Given the description of an element on the screen output the (x, y) to click on. 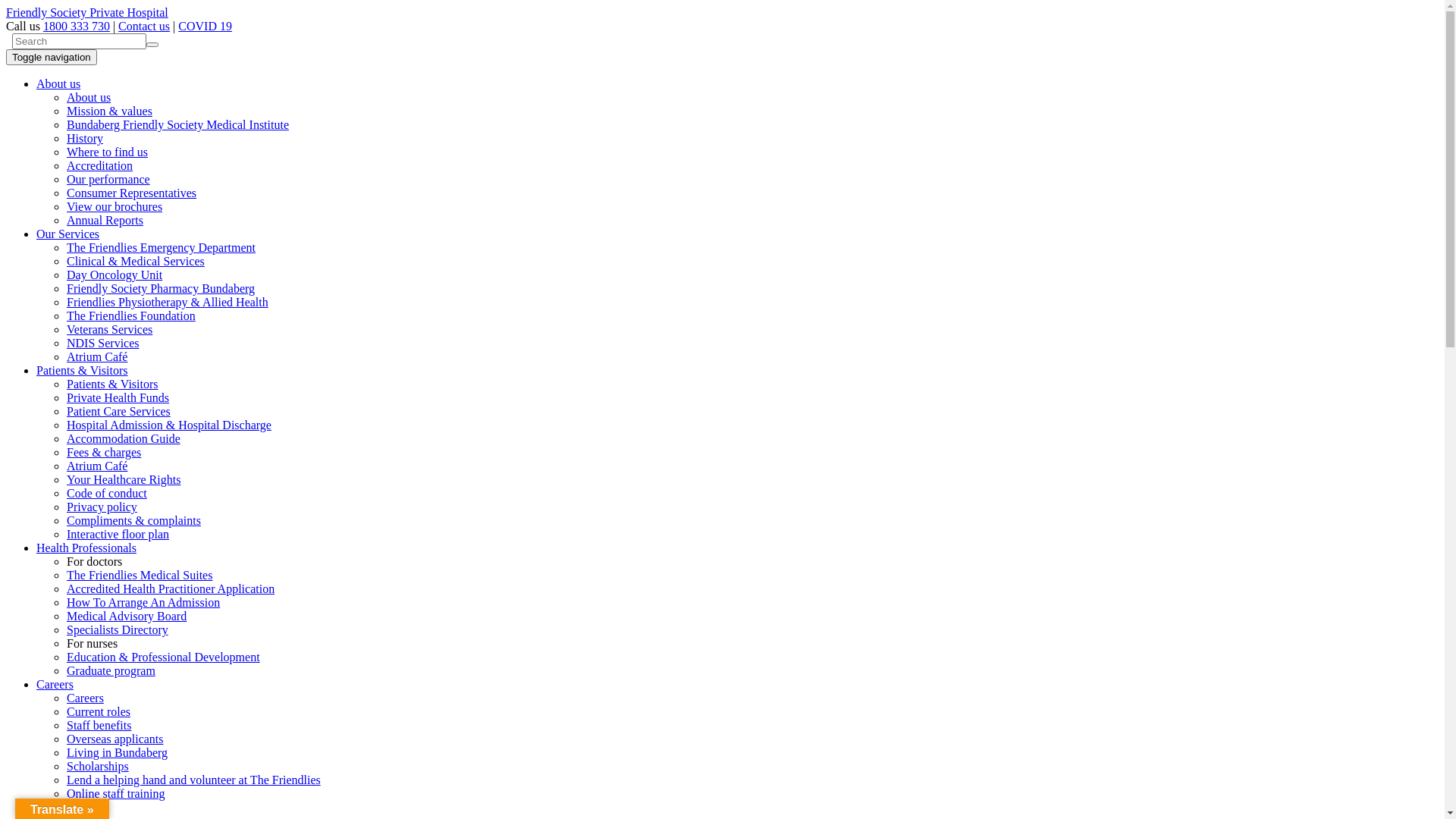
Day Oncology Unit Element type: text (114, 274)
COVID 19 Element type: text (205, 25)
Education & Professional Development Element type: text (163, 656)
About us Element type: text (88, 97)
Living in Bundaberg Element type: text (116, 752)
Veterans Services Element type: text (109, 329)
Health Professionals Element type: text (86, 547)
Friendly Society Pharmacy Bundaberg Element type: text (160, 288)
Friendly Society Private Hospital Element type: text (87, 12)
View our brochures Element type: text (114, 206)
Graduate program Element type: text (110, 670)
The Friendlies Emergency Department Element type: text (160, 247)
Careers Element type: text (54, 683)
Fees & charges Element type: text (103, 451)
Hospital Admission & Hospital Discharge Element type: text (168, 424)
Our performance Element type: text (108, 178)
Compliments & complaints Element type: text (133, 520)
Our Services Element type: text (67, 233)
Toggle navigation Element type: text (51, 57)
Scholarships Element type: text (97, 765)
Bundaberg Friendly Society Medical Institute Element type: text (177, 124)
1800 333 730 Element type: text (76, 25)
The Friendlies Medical Suites Element type: text (139, 574)
Interactive floor plan Element type: text (117, 533)
Careers Element type: text (84, 697)
Clinical & Medical Services Element type: text (135, 260)
Consumer Representatives Element type: text (131, 192)
Friendlies Physiotherapy & Allied Health Element type: text (167, 301)
History Element type: text (84, 137)
Patients & Visitors Element type: text (112, 383)
How To Arrange An Admission Element type: text (142, 602)
Contact us Element type: text (143, 25)
Specialists Directory Element type: text (117, 629)
Code of conduct Element type: text (106, 492)
Accreditation Element type: text (99, 165)
Mission & values Element type: text (109, 110)
Privacy policy Element type: text (101, 506)
Patients & Visitors Element type: text (82, 370)
Staff benefits Element type: text (98, 724)
Where to find us Element type: text (106, 151)
NDIS Services Element type: text (102, 342)
For nurses Element type: text (91, 643)
Medical Advisory Board Element type: text (126, 615)
Overseas applicants Element type: text (114, 738)
About us Element type: text (58, 83)
Lend a helping hand and volunteer at The Friendlies Element type: text (193, 779)
For doctors Element type: text (94, 561)
Annual Reports Element type: text (104, 219)
Accredited Health Practitioner Application Element type: text (170, 588)
Patient Care Services Element type: text (118, 410)
Your Healthcare Rights Element type: text (123, 479)
Online staff training Element type: text (115, 793)
The Friendlies Foundation Element type: text (130, 315)
Accommodation Guide Element type: text (123, 438)
News Element type: text (49, 806)
Current roles Element type: text (98, 711)
Private Health Funds Element type: text (117, 397)
